Given the description of an element on the screen output the (x, y) to click on. 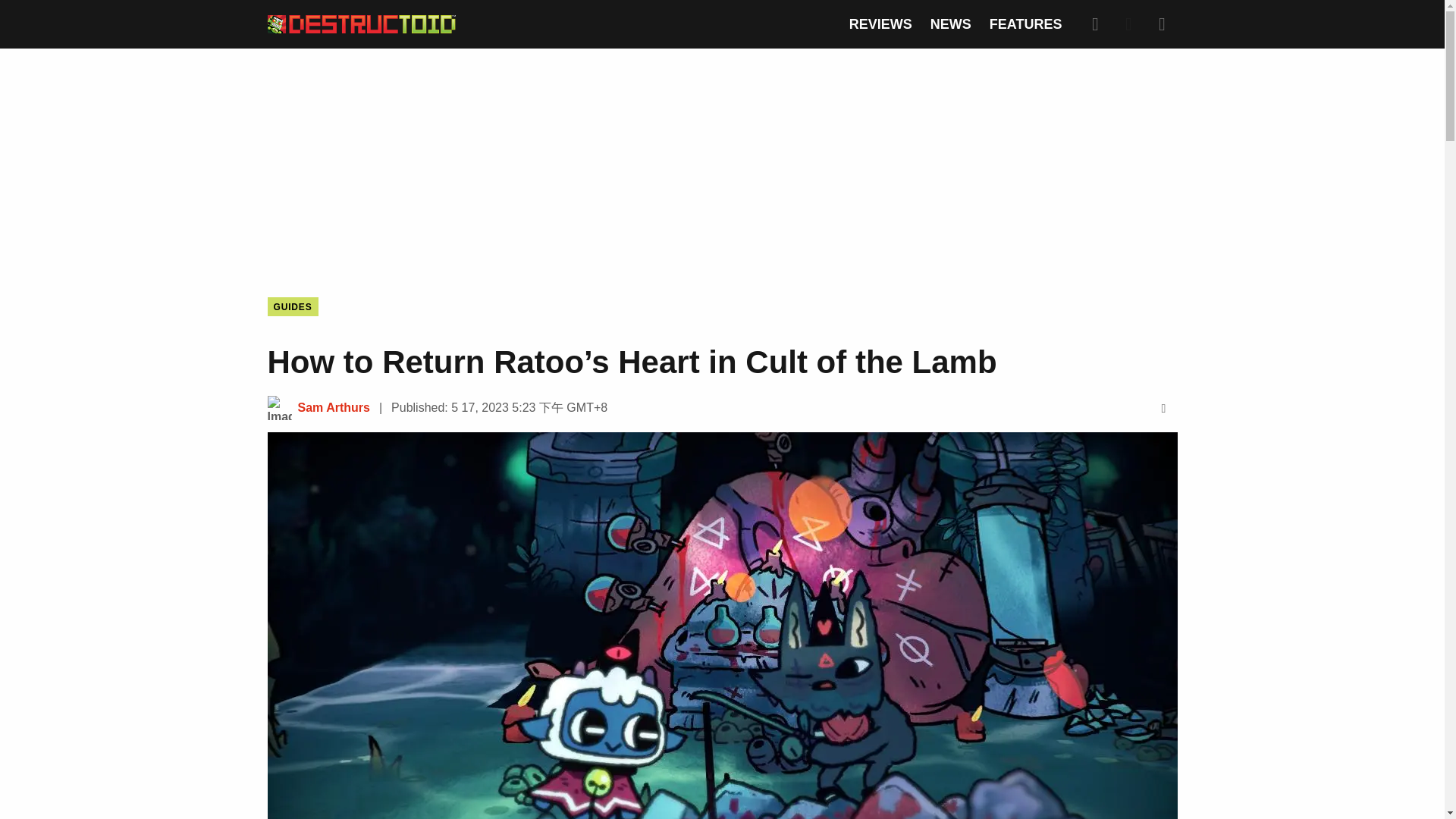
FEATURES (1026, 23)
Search (1094, 24)
REVIEWS (880, 23)
Expand Menu (1161, 24)
GUIDES (291, 306)
Dark Mode (1127, 24)
NEWS (950, 23)
